Given the description of an element on the screen output the (x, y) to click on. 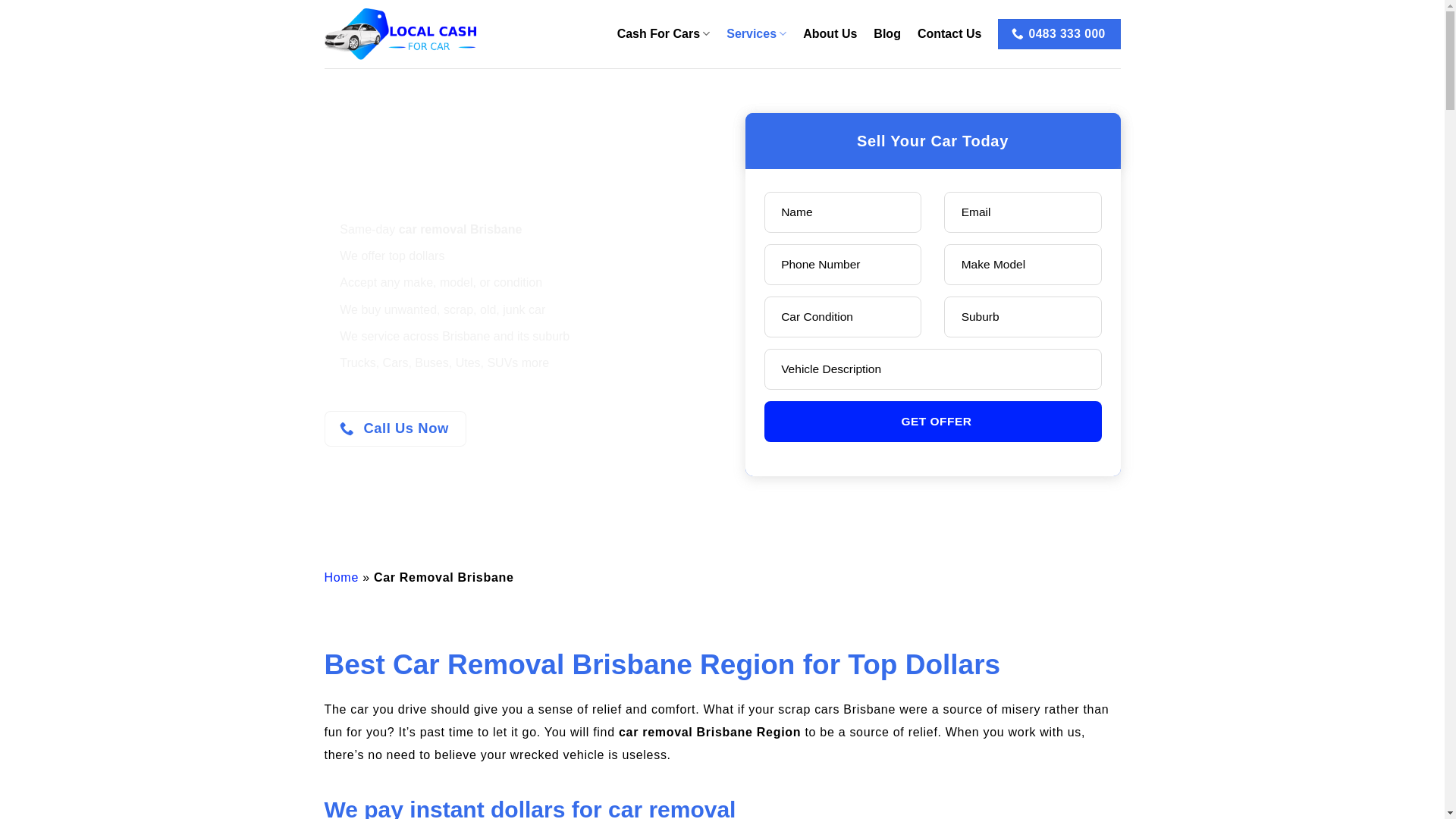
Home Element type: text (341, 577)
Local Cash For Car Element type: hover (400, 33)
Get offer Element type: text (932, 421)
Services Element type: text (756, 33)
Contact Us Element type: text (949, 33)
Cash For Cars Element type: text (663, 33)
0483 333 000 Element type: text (1058, 33)
Skip to content Element type: text (0, 0)
About Us Element type: text (829, 33)
Blog Element type: text (886, 33)
Call Us Now Element type: text (395, 428)
